Given the description of an element on the screen output the (x, y) to click on. 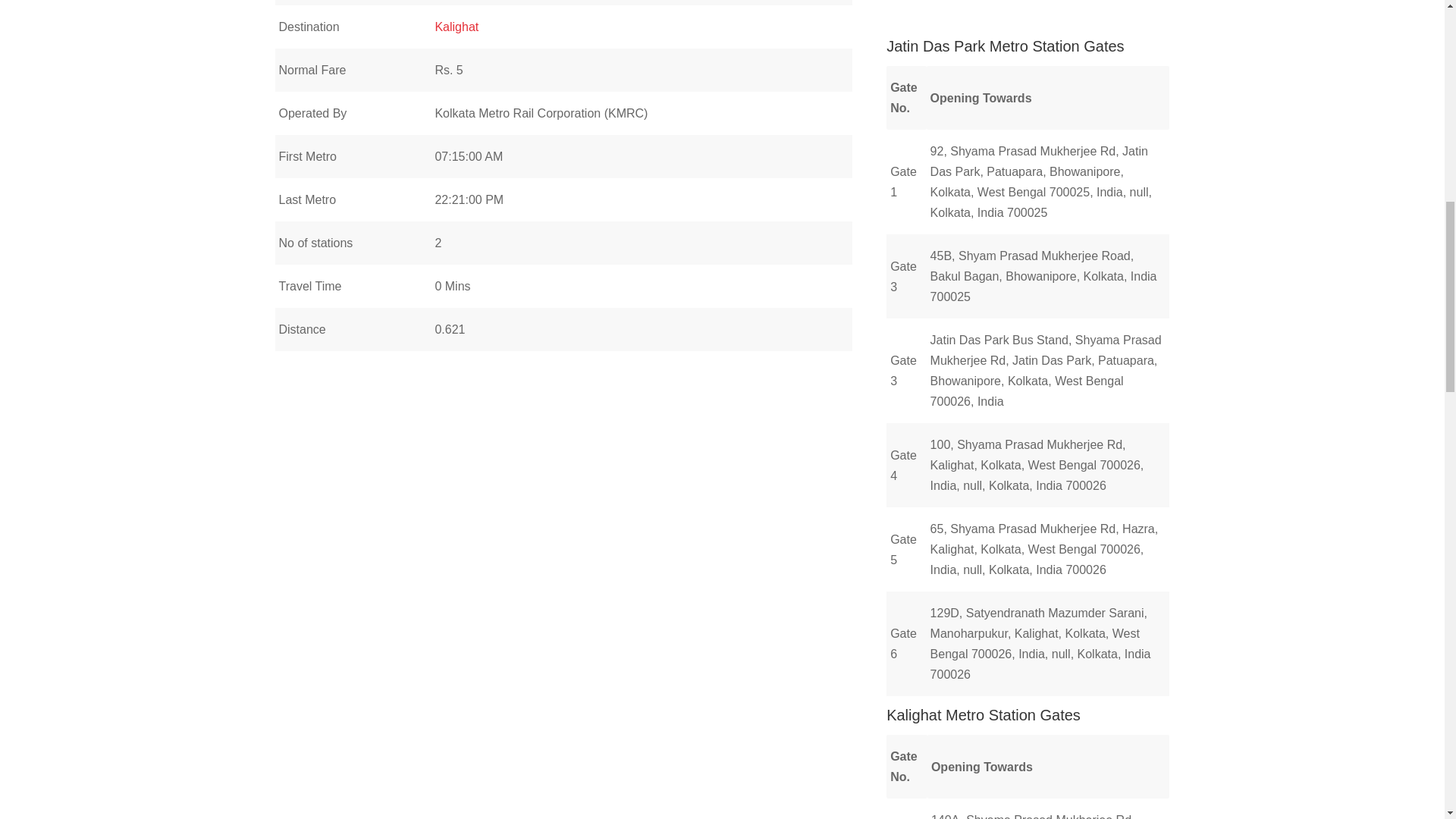
Kalighat (456, 26)
